Given the description of an element on the screen output the (x, y) to click on. 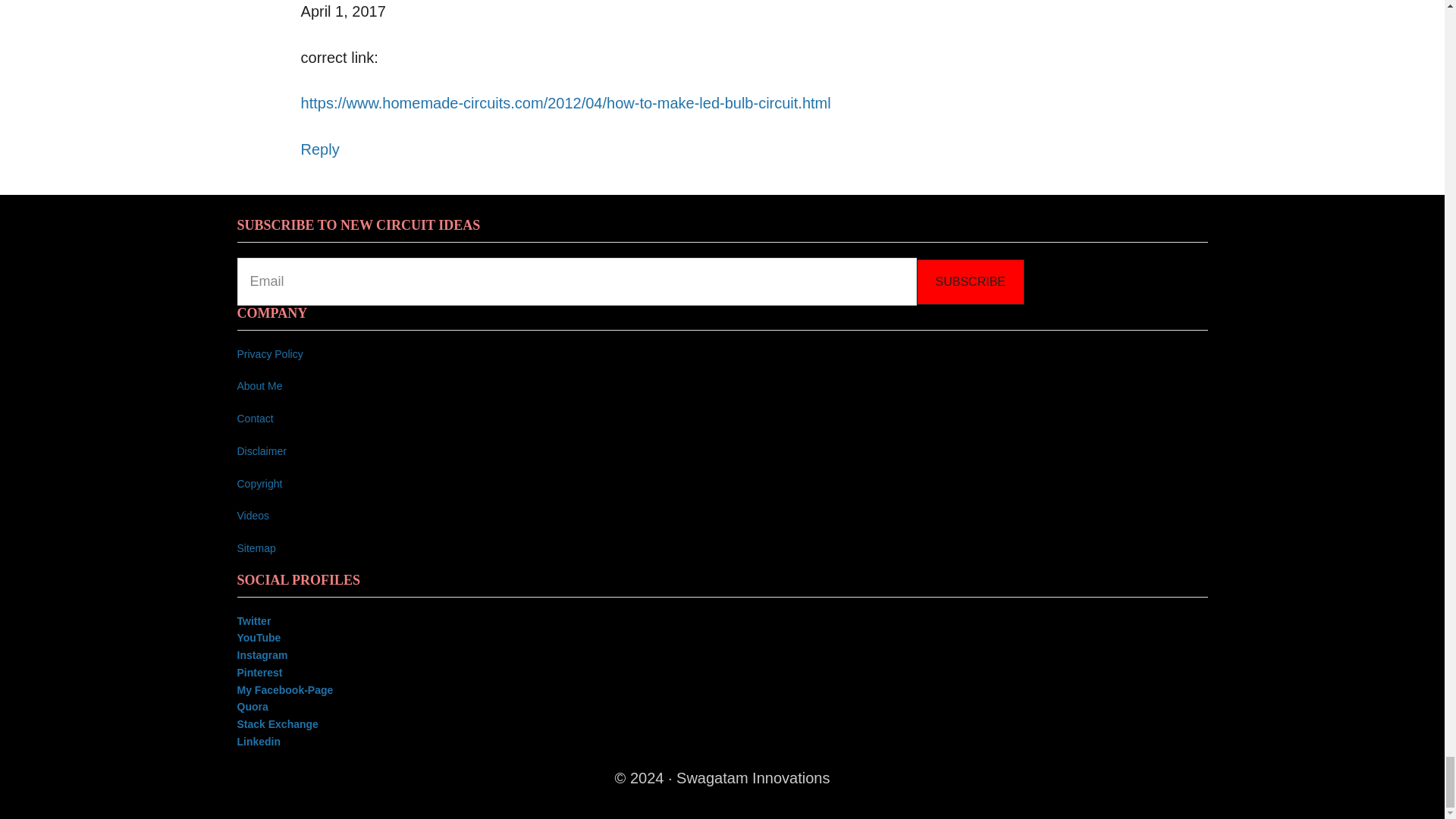
Subscribe (969, 281)
